Given the description of an element on the screen output the (x, y) to click on. 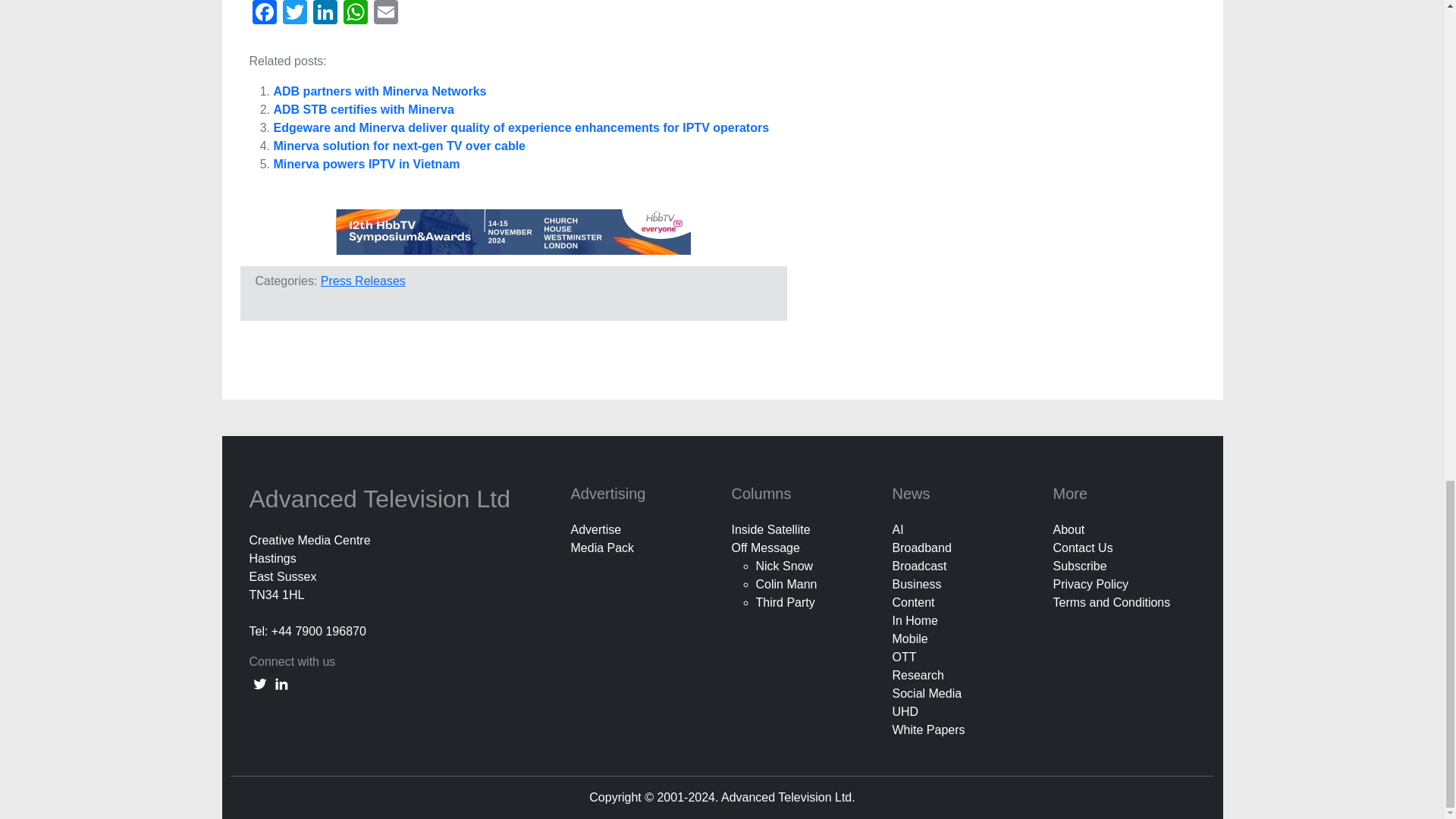
WhatsApp (354, 13)
ADB STB certifies with Minerva (362, 109)
Twitter (293, 13)
Press Releases (363, 280)
Advanced Television Ltd  (382, 498)
Minerva powers IPTV in Vietnam (366, 164)
Twitter (293, 13)
WhatsApp (354, 13)
Minerva solution for next-gen TV over cable (399, 145)
ADB partners with Minerva Networks (379, 91)
Facebook (263, 13)
ADB partners with Minerva Networks (379, 91)
Minerva powers IPTV in Vietnam (366, 164)
Facebook (263, 13)
